Given the description of an element on the screen output the (x, y) to click on. 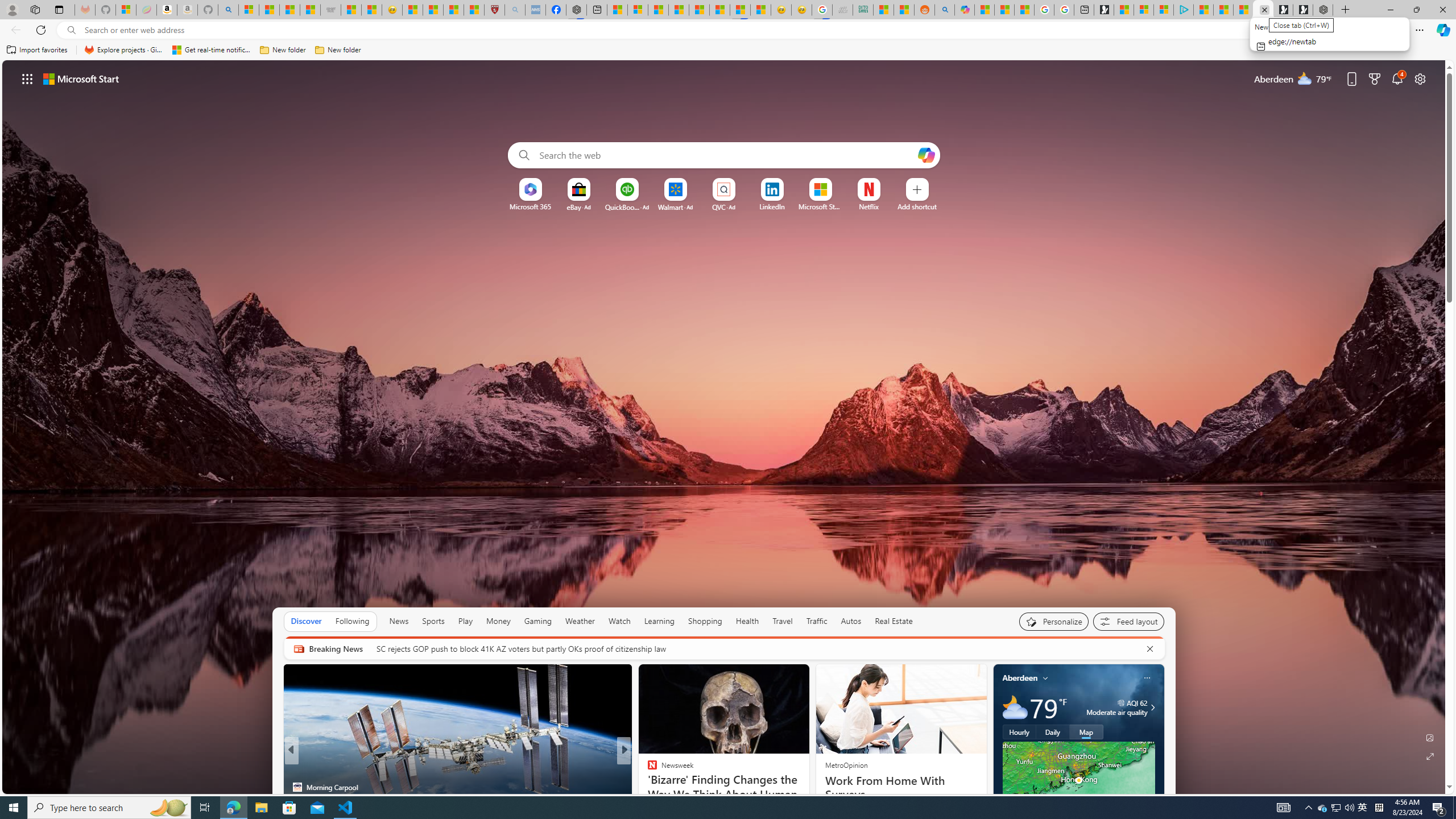
Mostly cloudy (1014, 707)
Moderate air quality (1150, 707)
Add a site (916, 206)
